Given the description of an element on the screen output the (x, y) to click on. 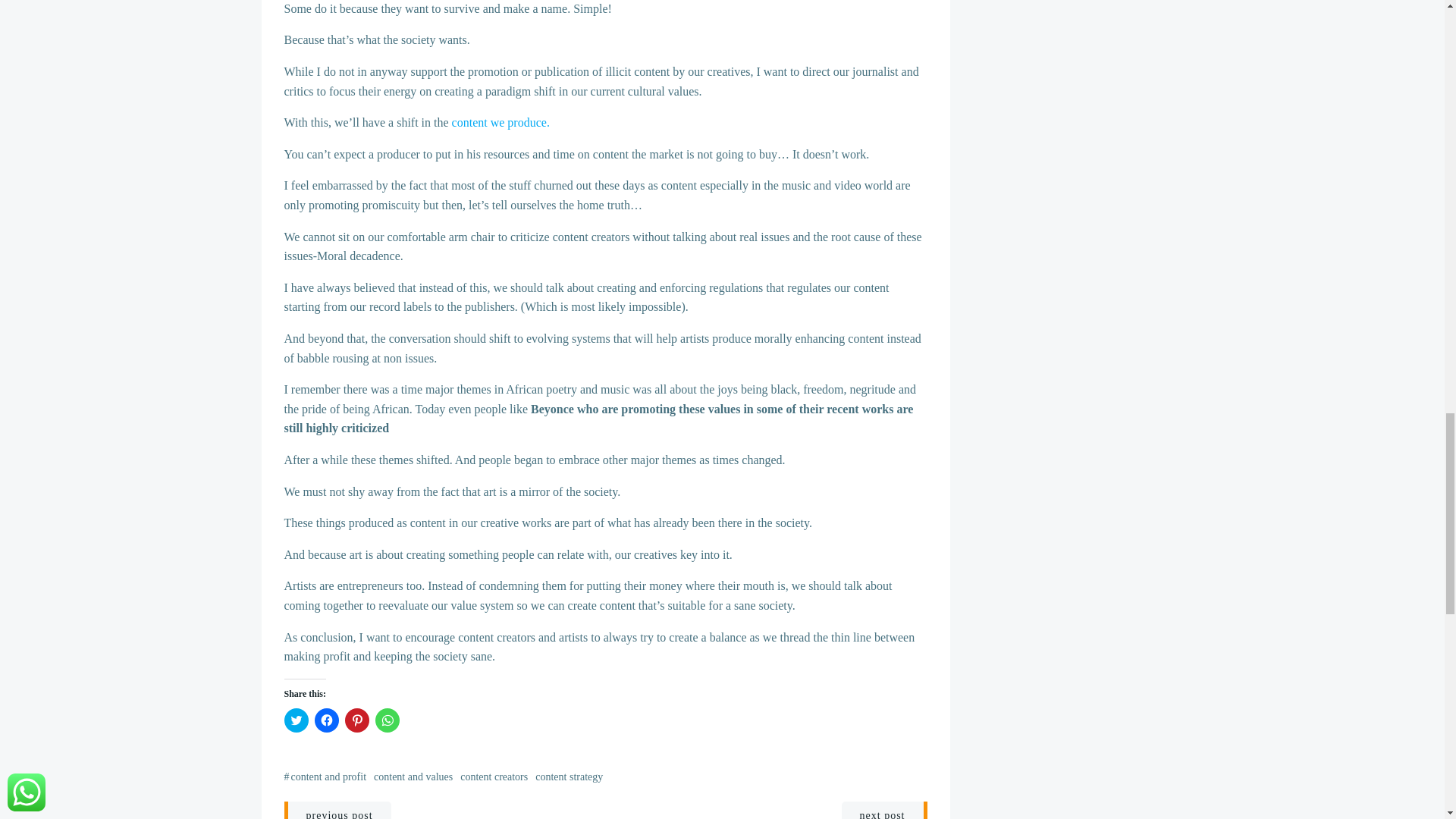
Click to share on Twitter (295, 720)
Content creators Tag (493, 776)
Click to share on WhatsApp (386, 720)
Click to share on Facebook (325, 720)
Content and Values Tag (413, 776)
content strategy Tag (568, 776)
Content and Profit Tag (328, 776)
Click to share on Pinterest (355, 720)
